Given the description of an element on the screen output the (x, y) to click on. 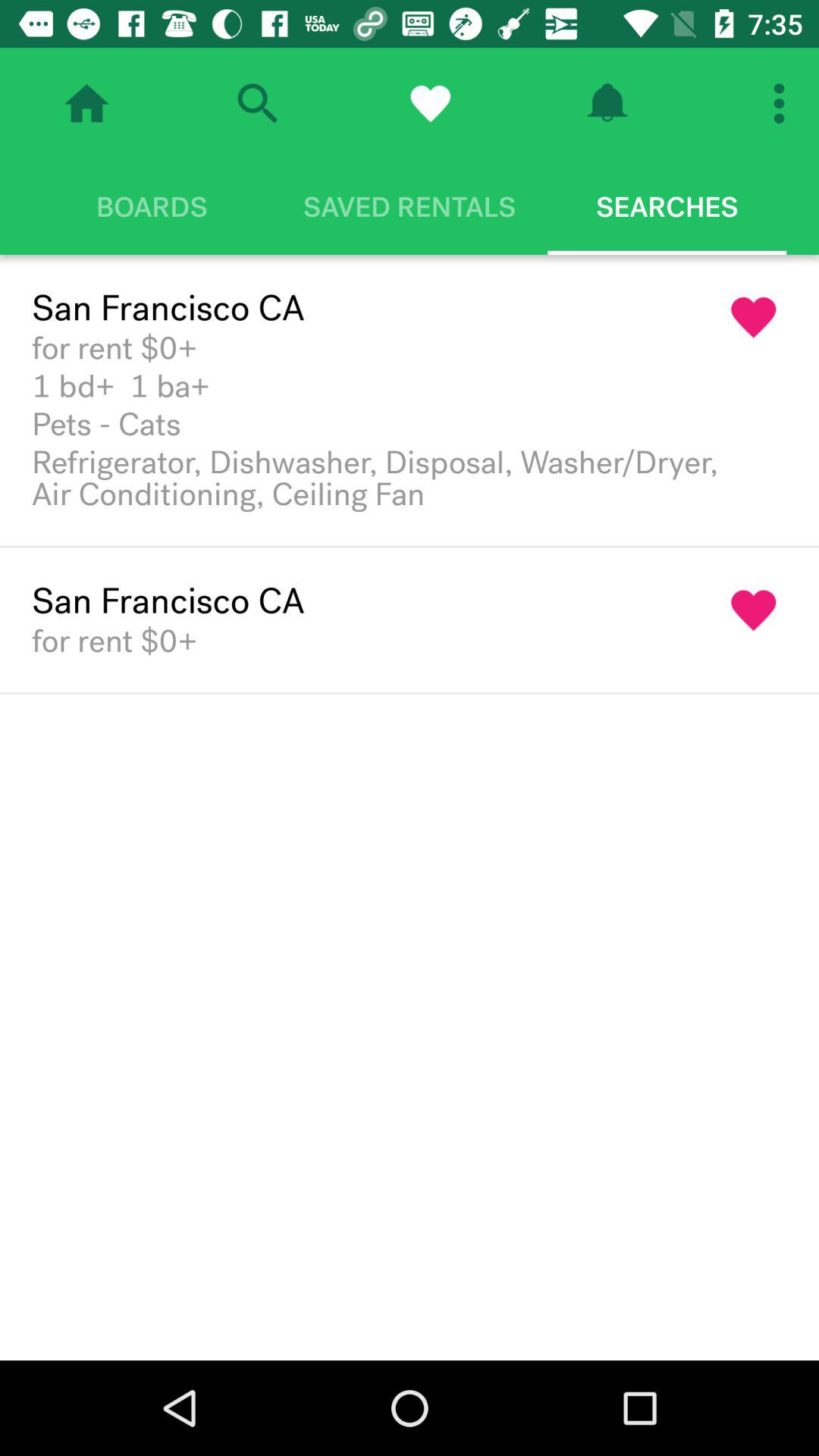
toggles notifications (606, 103)
